Given the description of an element on the screen output the (x, y) to click on. 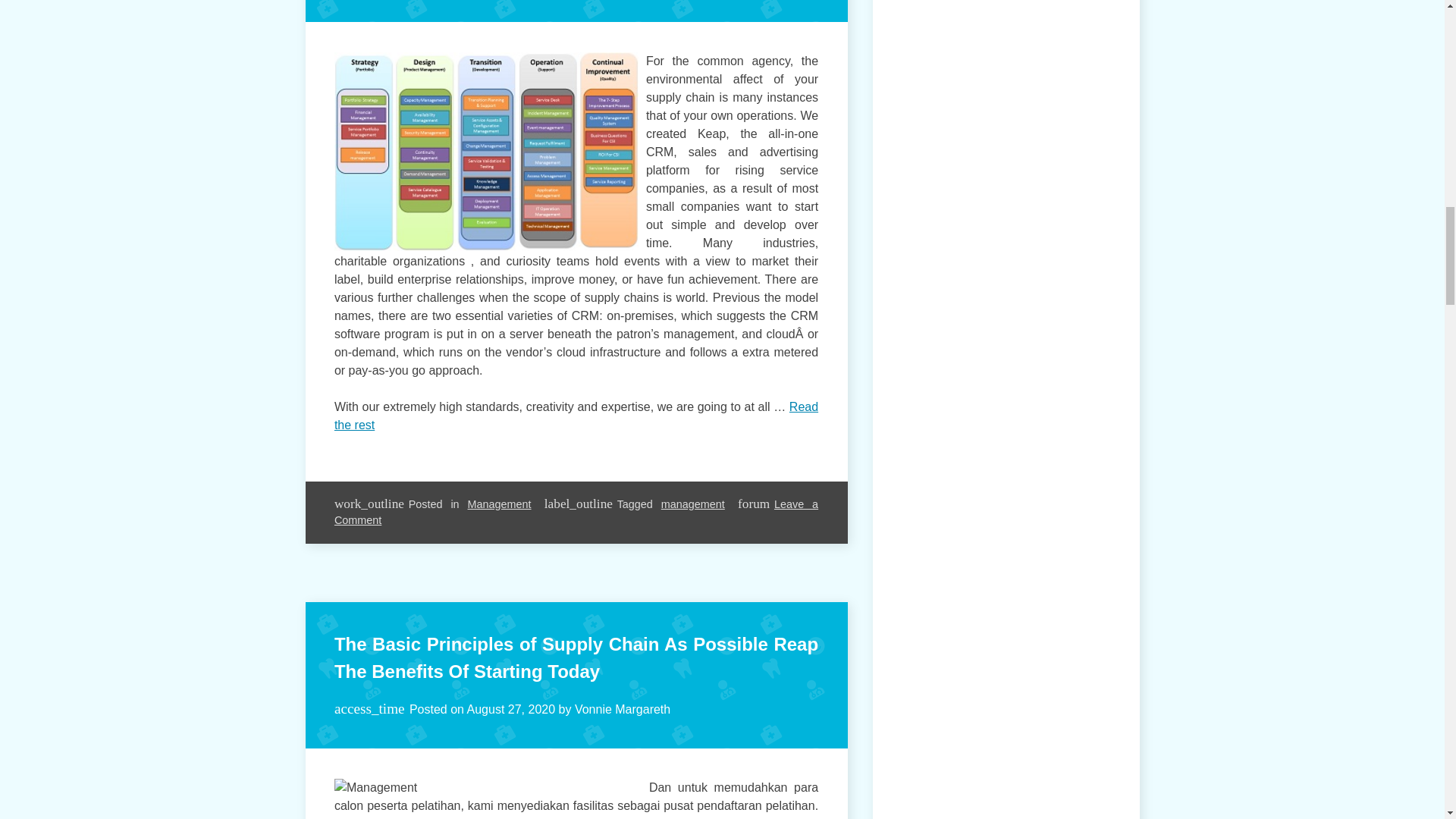
Vonnie Margareth (622, 708)
Read the rest (576, 415)
Management (499, 503)
management (693, 503)
August 27, 2020 (511, 708)
